Given the description of an element on the screen output the (x, y) to click on. 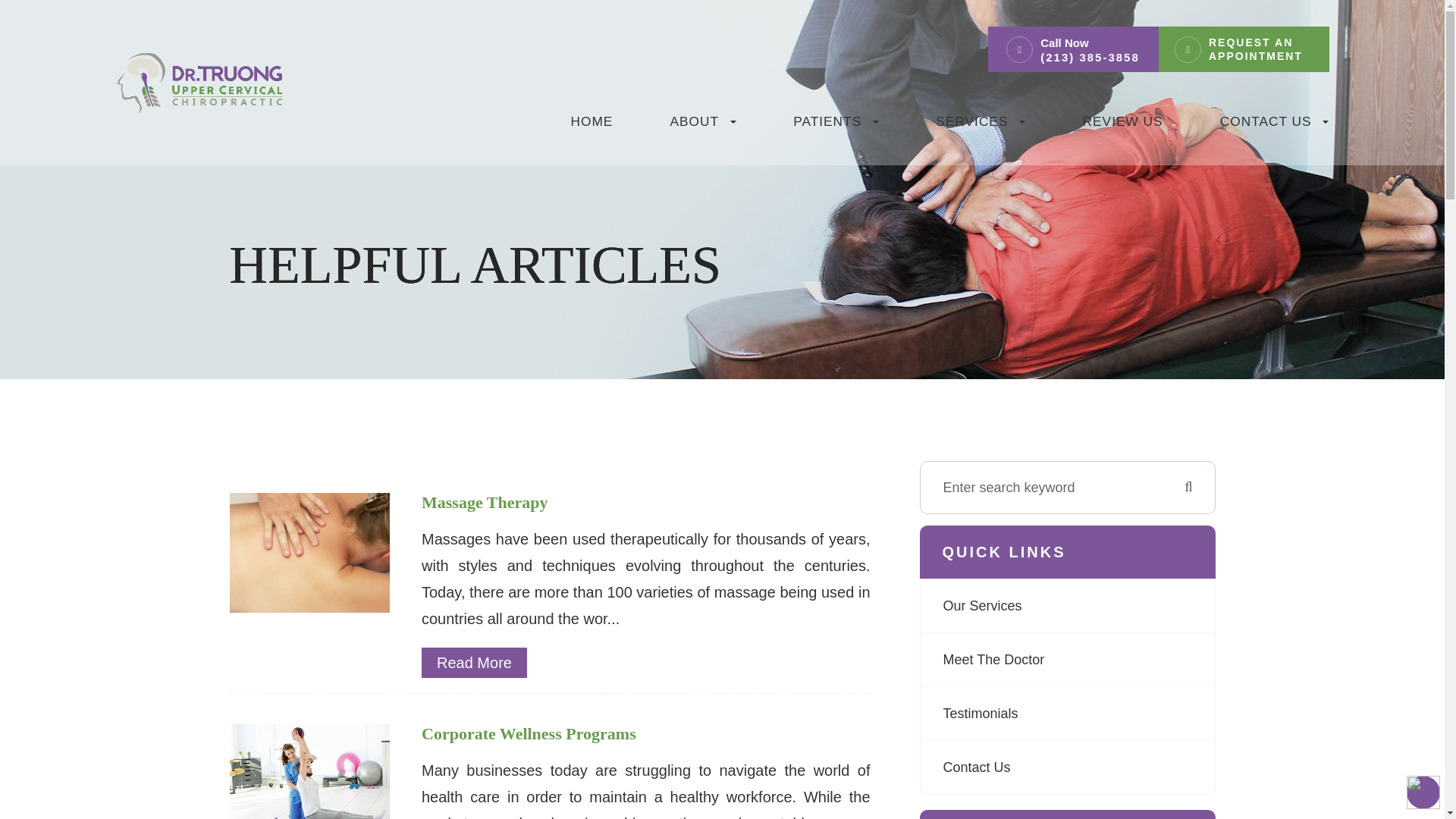
ABOUT (702, 127)
REQUEST AN APPOINTMENT (1260, 49)
PATIENTS (836, 127)
HOME (591, 127)
Accessibility Menu (1422, 792)
